Given the description of an element on the screen output the (x, y) to click on. 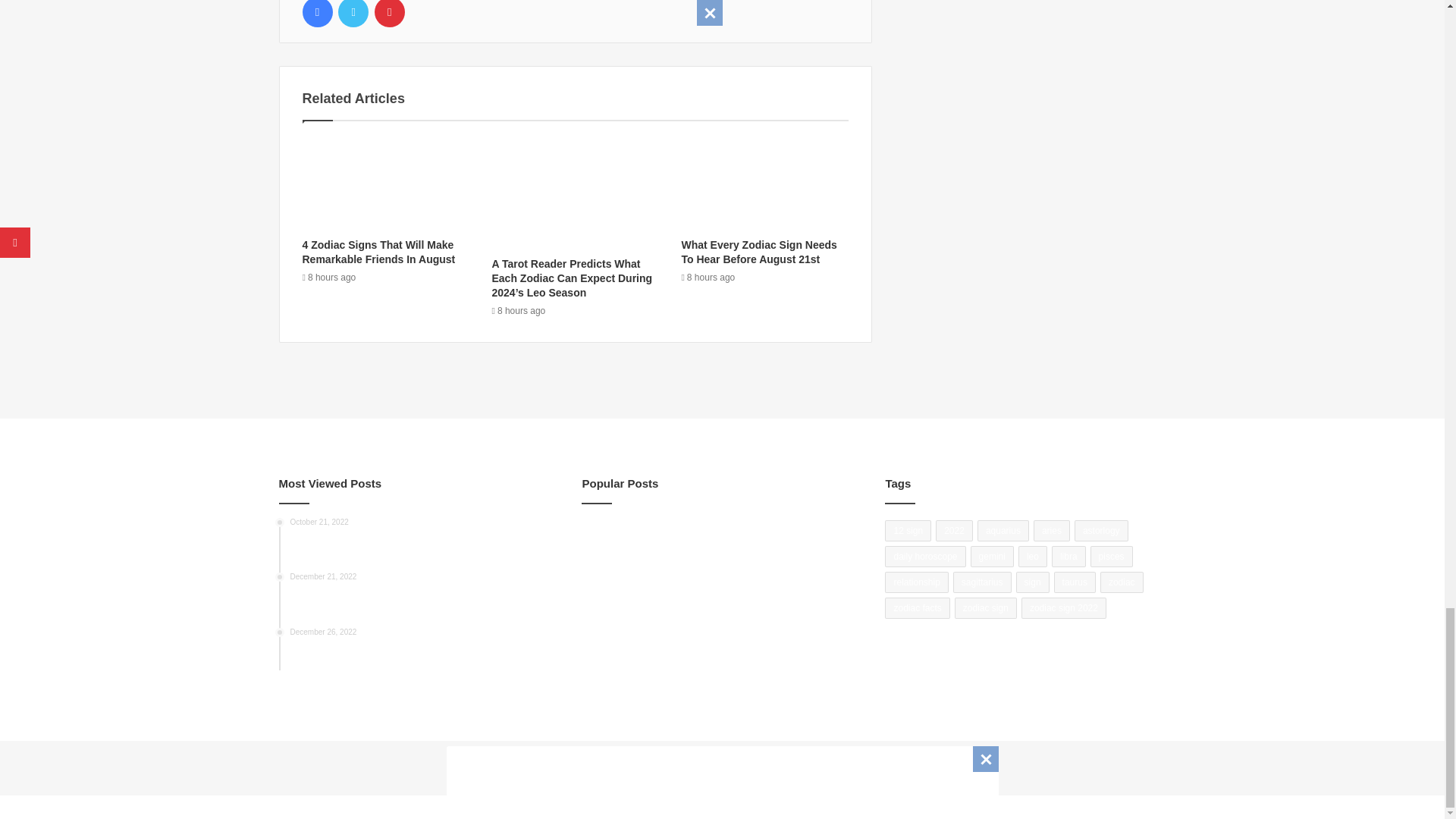
Pinterest (389, 13)
Twitter (352, 13)
4 Zodiac Signs That Will Make Remarkable Friends In August (377, 252)
Facebook (316, 13)
